Given the description of an element on the screen output the (x, y) to click on. 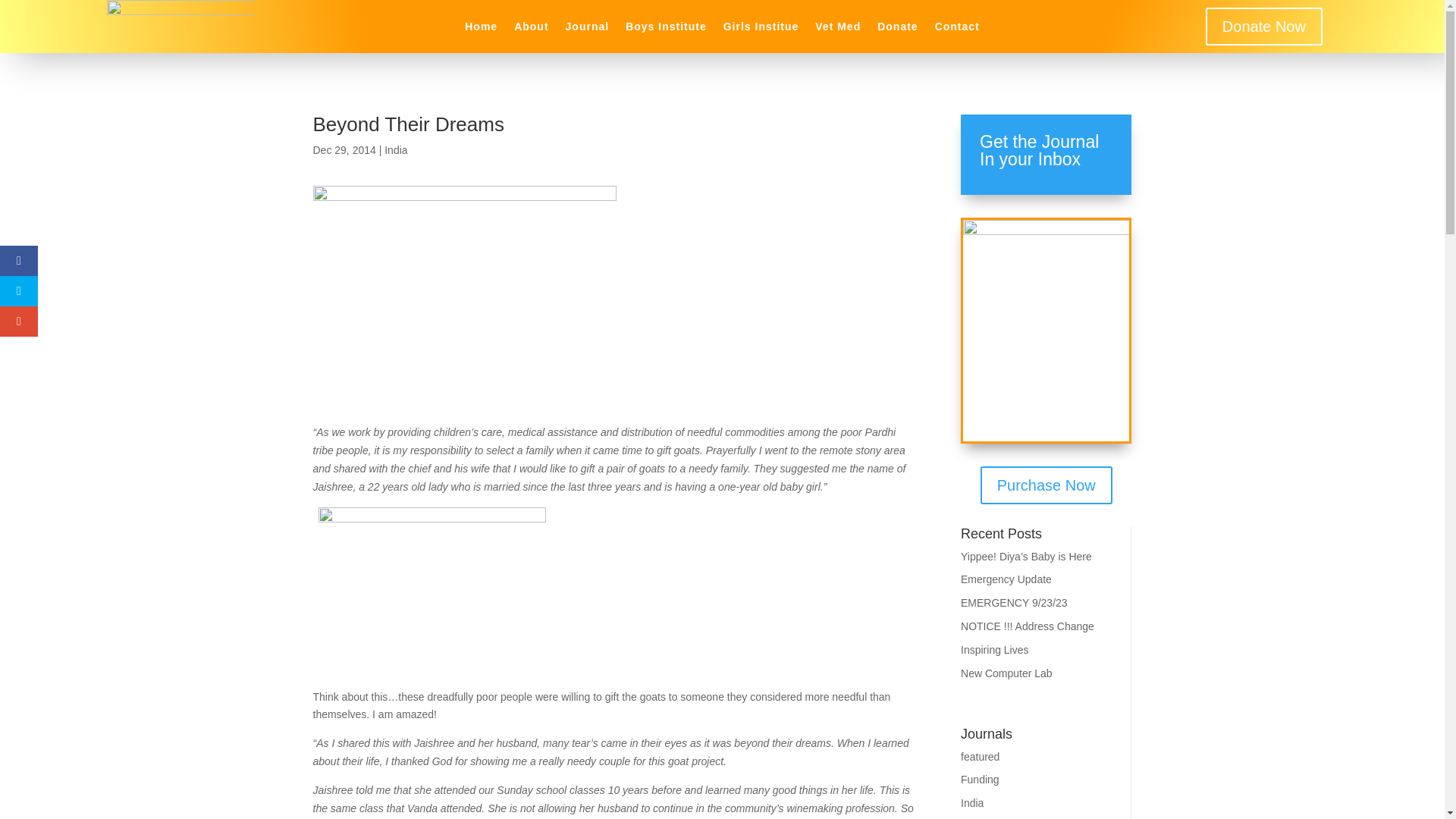
Funding (979, 779)
India (972, 802)
Purchase Now (1045, 485)
Contact (956, 29)
Girls Institue (761, 29)
featured (979, 756)
Donate (897, 29)
Home (480, 29)
Journal (588, 29)
About (530, 29)
Boys Institute (666, 29)
Vet Med (837, 29)
Donate Now (1263, 26)
New Computer Lab (1006, 673)
India (395, 150)
